Given the description of an element on the screen output the (x, y) to click on. 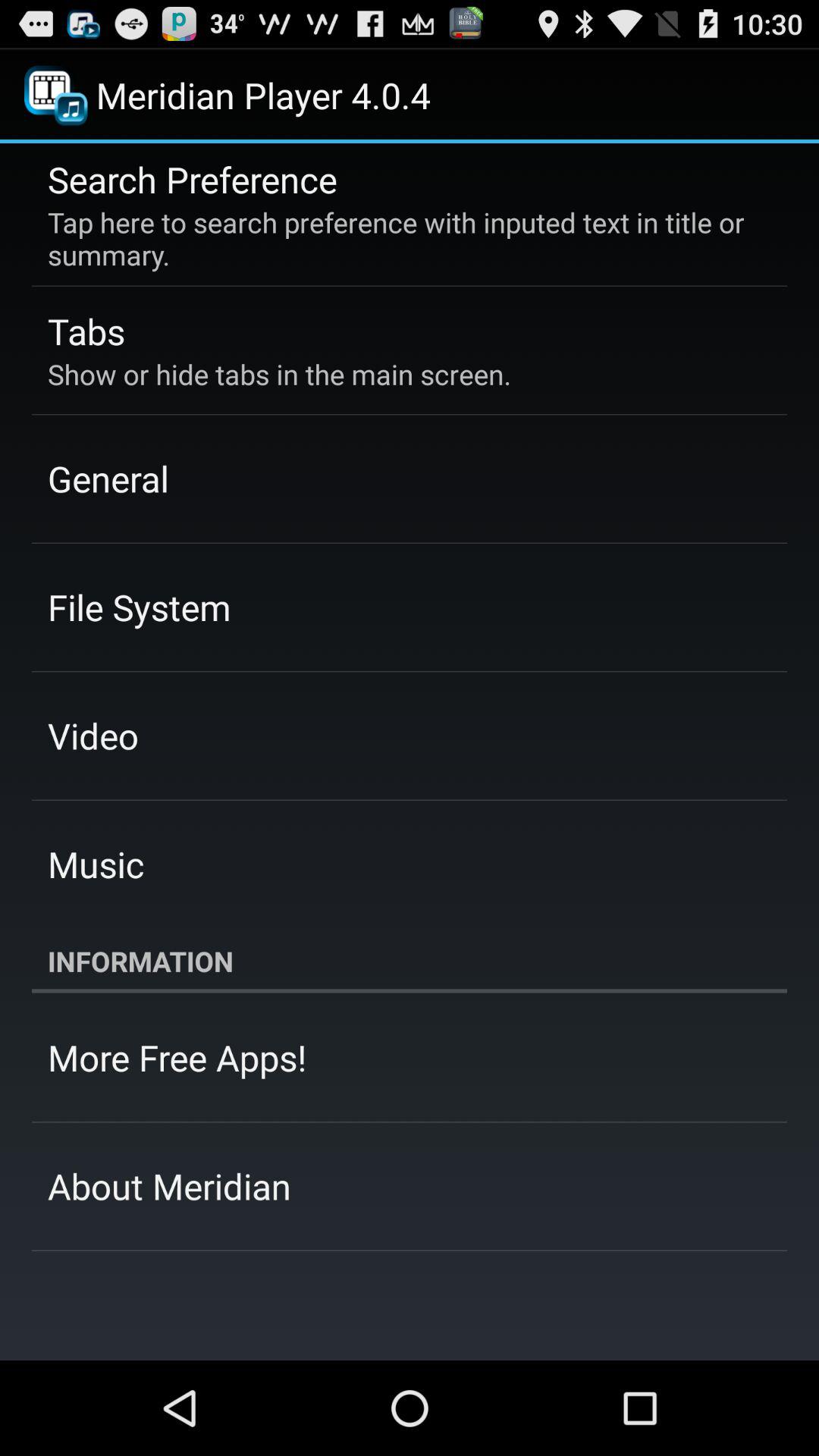
jump until the about meridian item (169, 1185)
